Given the description of an element on the screen output the (x, y) to click on. 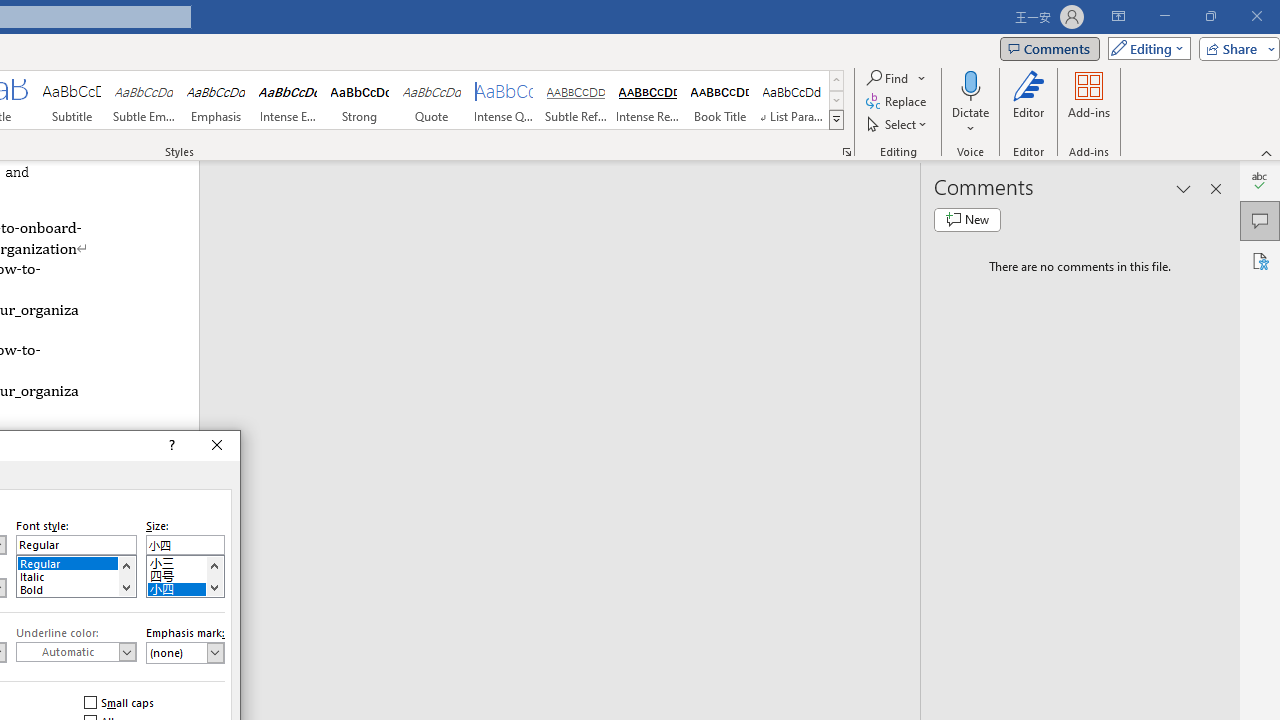
Replace... (897, 101)
Comments (1260, 220)
Minimize (1164, 16)
Editing (1144, 47)
AutomationID: 1797 (214, 576)
Ribbon Display Options (1118, 16)
Row Down (836, 100)
Styles... (846, 151)
Comments (1049, 48)
Subtle Emphasis (143, 100)
Emphasis (216, 100)
Find (888, 78)
